Given the description of an element on the screen output the (x, y) to click on. 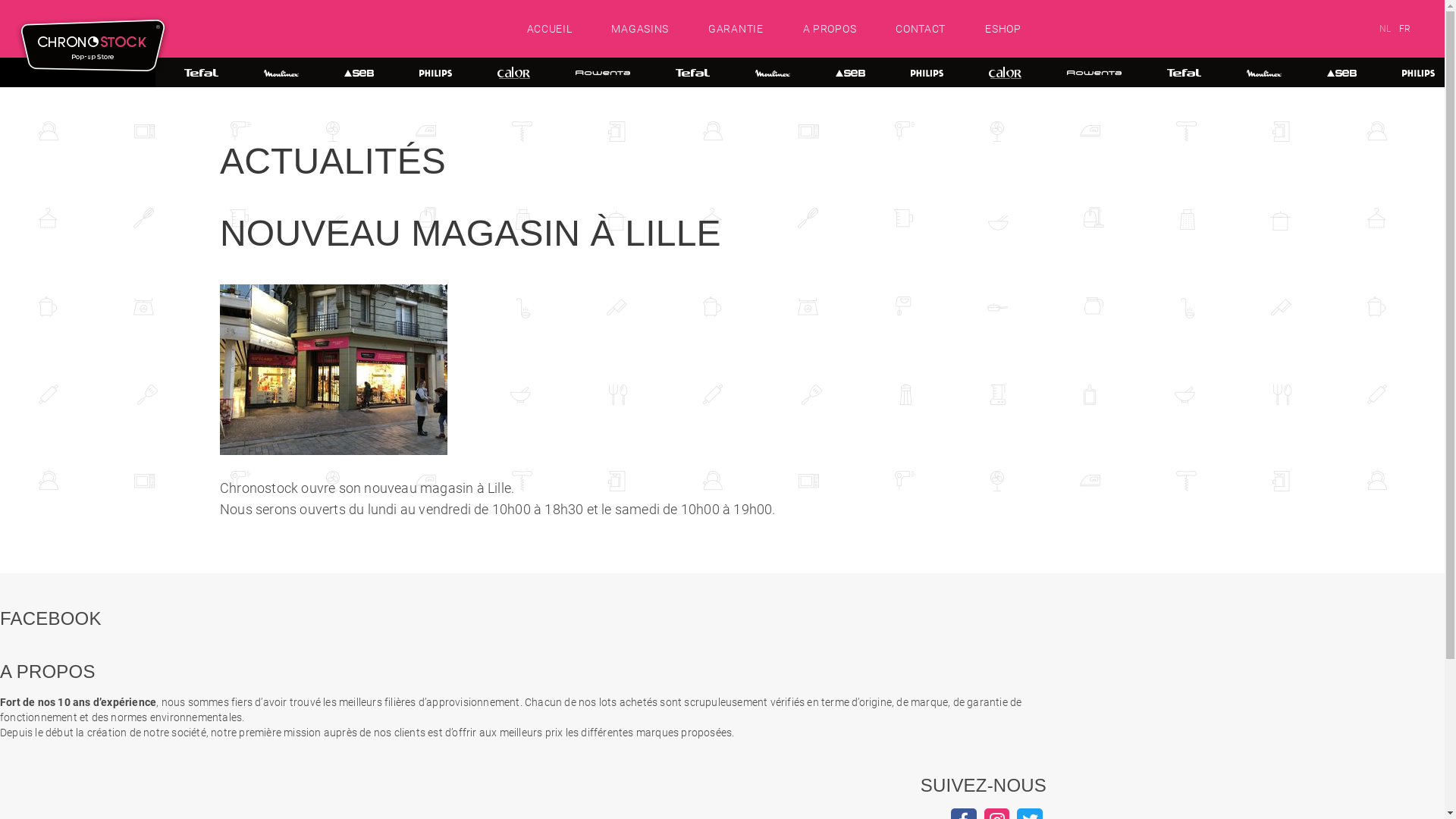
A PROPOS Element type: text (829, 28)
CONTACT Element type: text (919, 28)
MAGASINS Element type: text (639, 28)
ESHOP Element type: text (1002, 28)
NL Element type: text (1384, 28)
Chronostock Element type: text (92, 46)
ACCUEIL Element type: text (548, 28)
GARANTIE Element type: text (734, 28)
FR Element type: text (1404, 28)
